Given the description of an element on the screen output the (x, y) to click on. 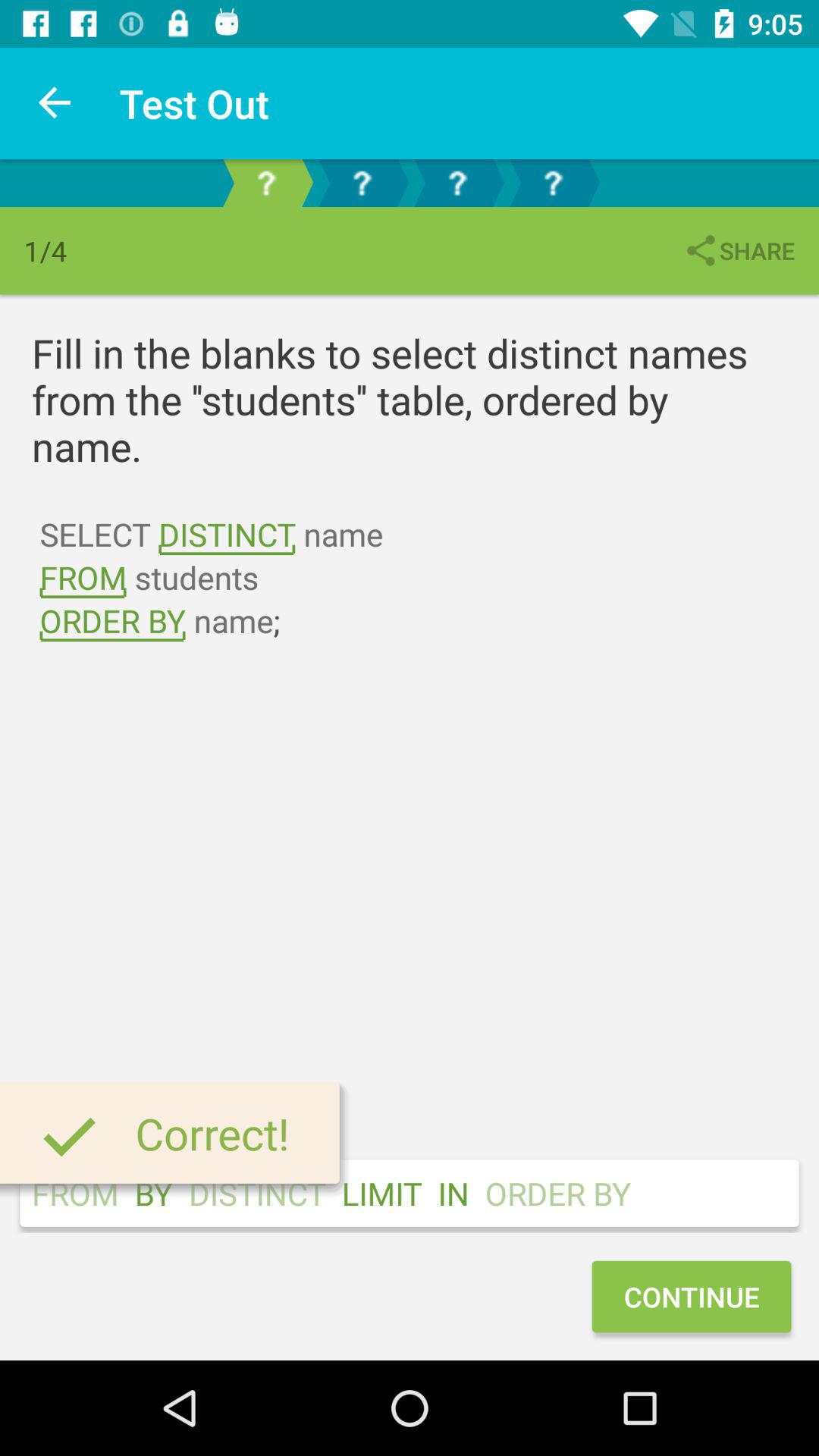
click item next to the test out icon (55, 103)
